Given the description of an element on the screen output the (x, y) to click on. 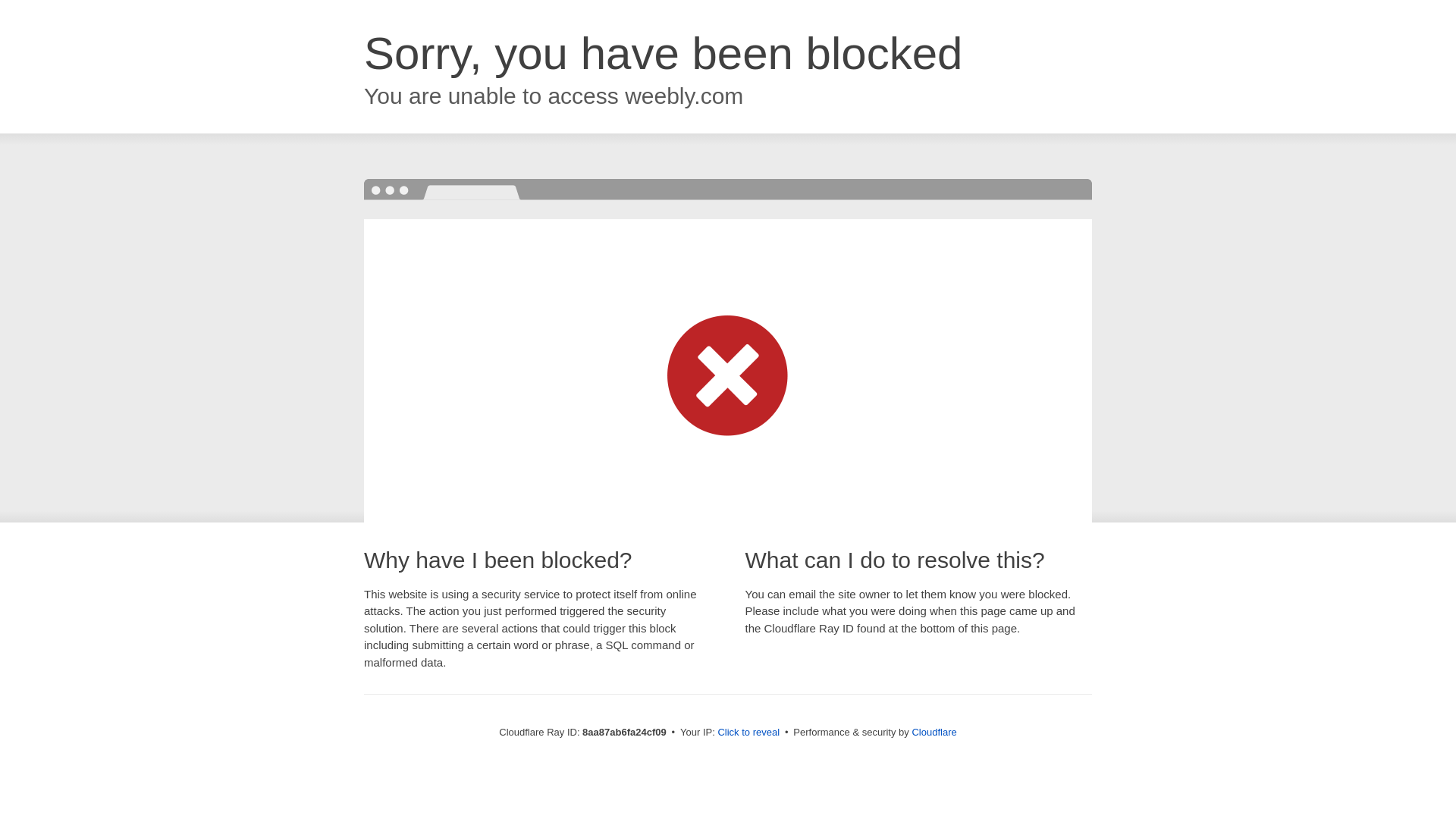
Click to reveal (747, 732)
Cloudflare (933, 731)
